Given the description of an element on the screen output the (x, y) to click on. 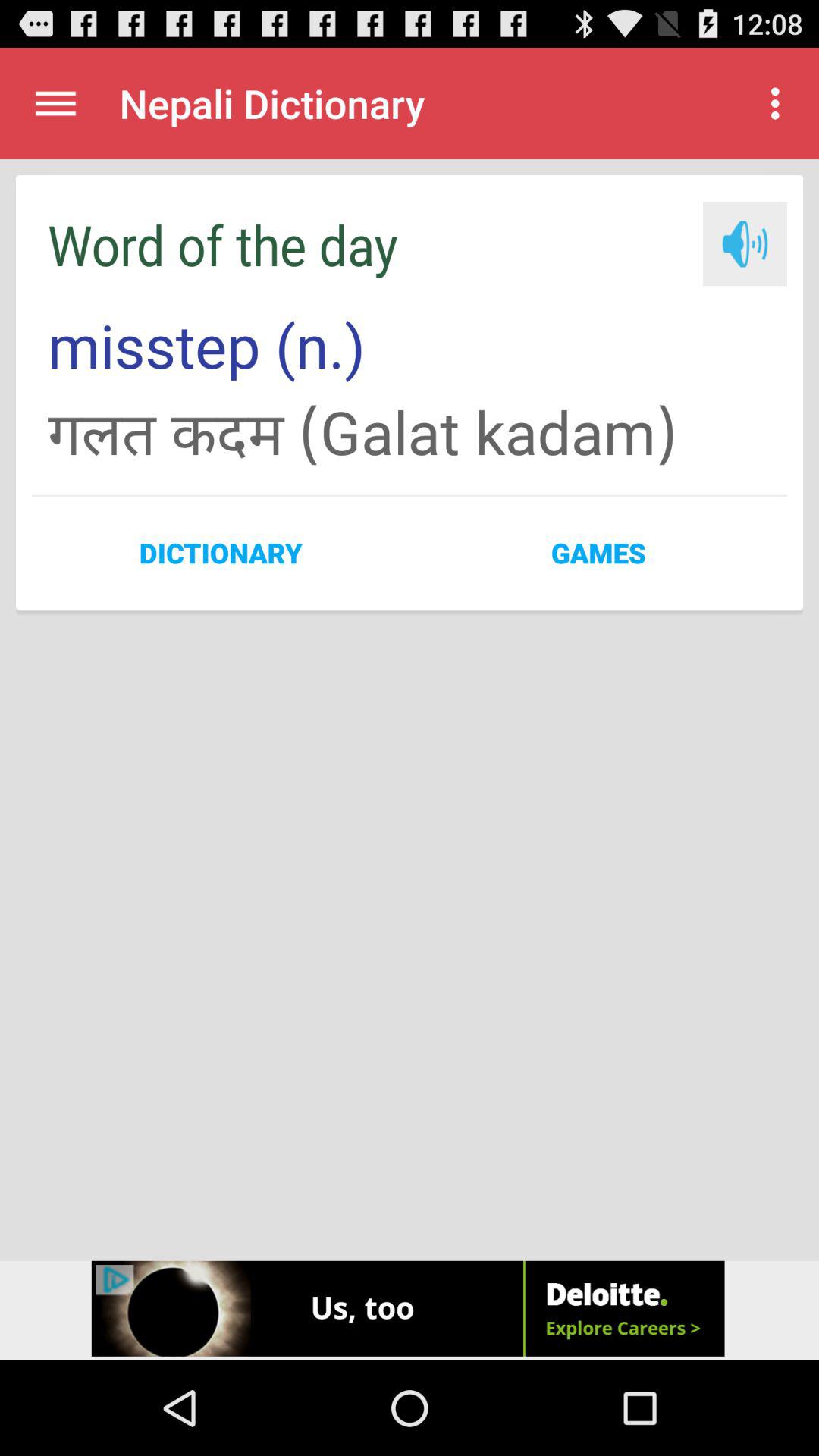
listen to audio (744, 243)
